Given the description of an element on the screen output the (x, y) to click on. 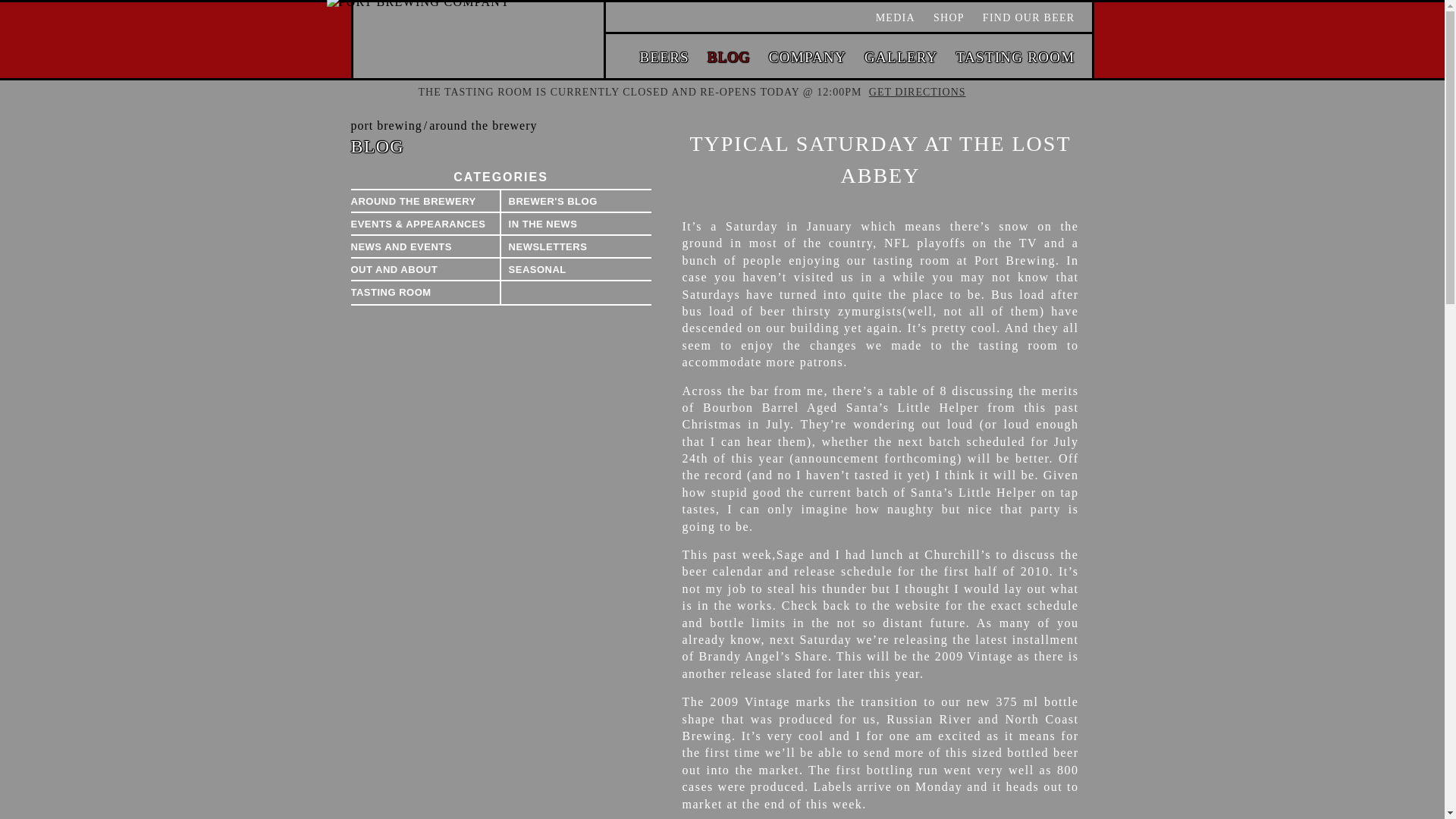
NEWSLETTERS (575, 246)
NEWS AND EVENTS (425, 246)
FIND OUR BEER (1028, 17)
GALLERY (900, 57)
CATEGORIES (500, 178)
SEASONAL (575, 269)
X (1057, 91)
IN THE NEWS (575, 223)
TASTING ROOM (1015, 57)
TASTING ROOM (425, 292)
